Given the description of an element on the screen output the (x, y) to click on. 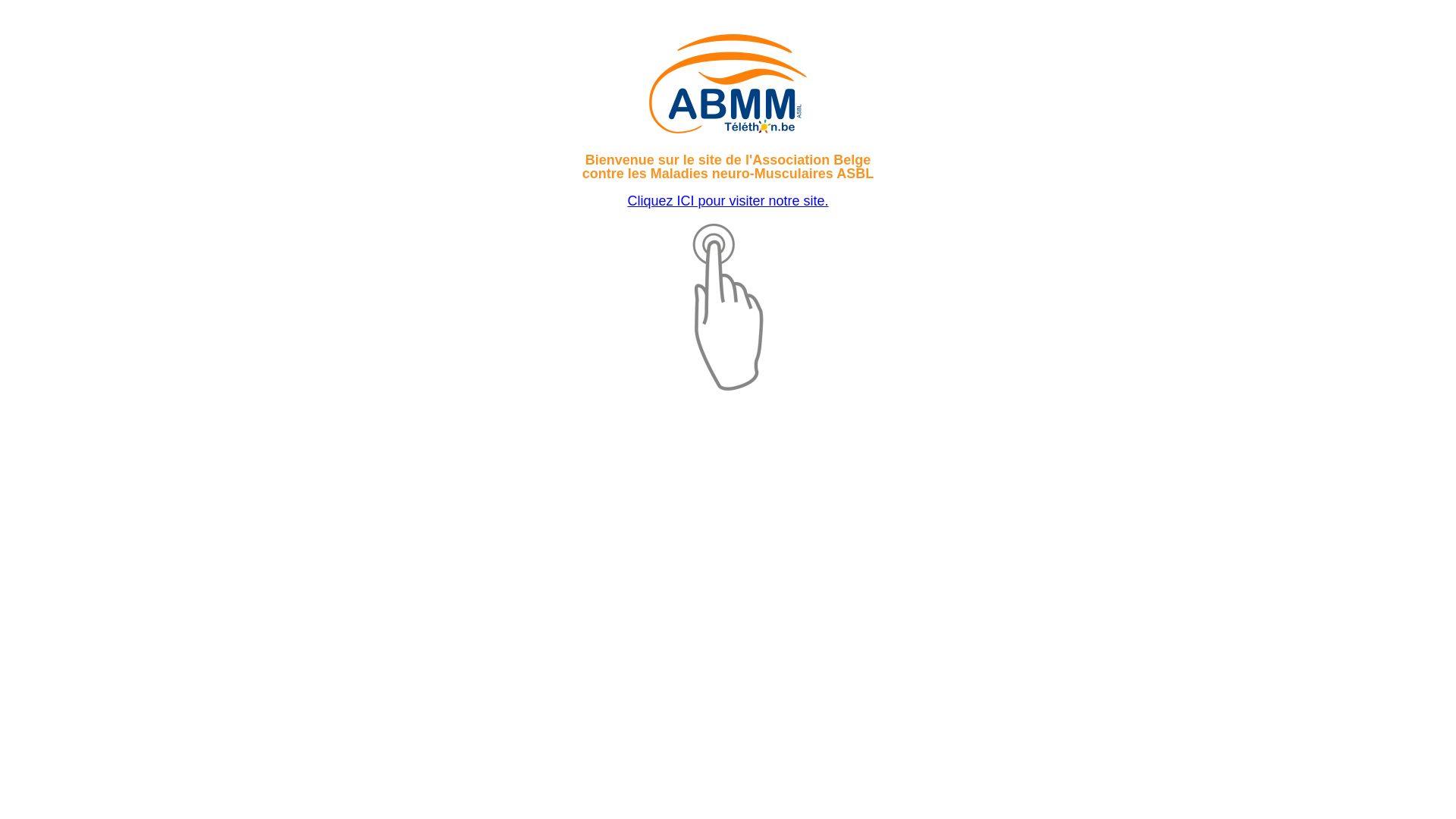
Cliquez ICI pour visiter notre site. Element type: text (727, 200)
